Given the description of an element on the screen output the (x, y) to click on. 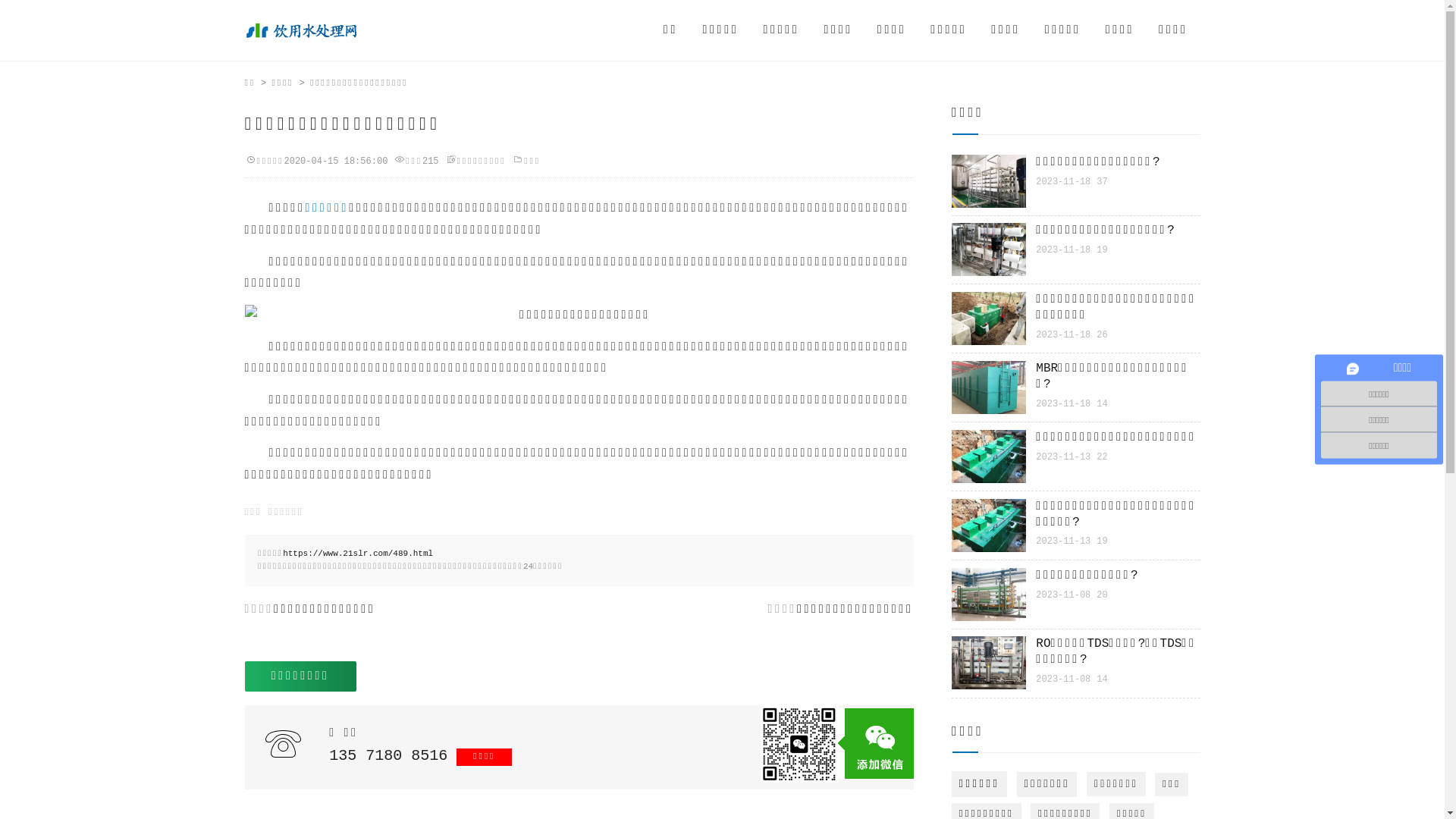
https://www.21slr.com/489.html Element type: text (357, 553)
